Given the description of an element on the screen output the (x, y) to click on. 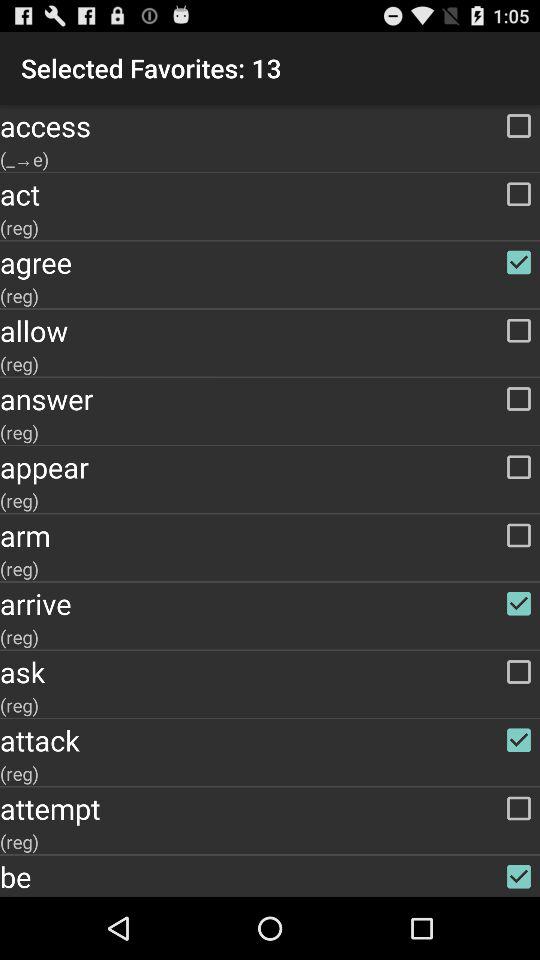
press the app above the (reg)  app (270, 194)
